Given the description of an element on the screen output the (x, y) to click on. 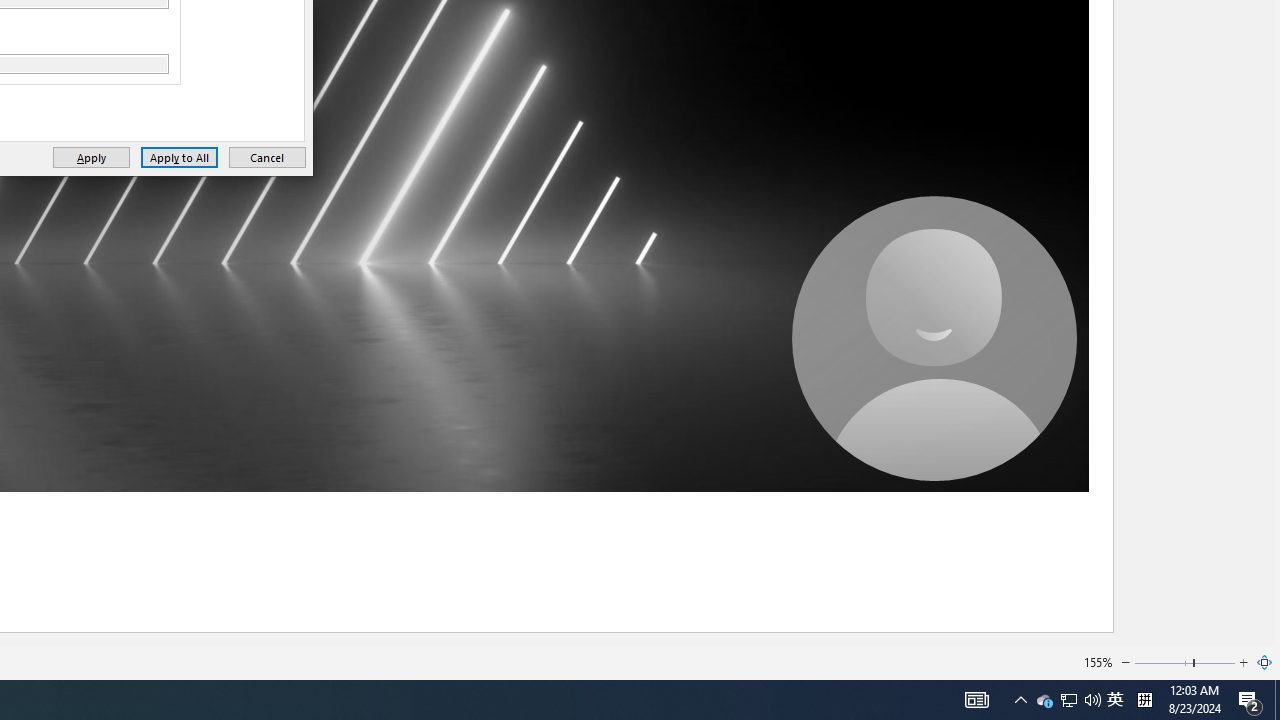
Apply (91, 157)
